Given the description of an element on the screen output the (x, y) to click on. 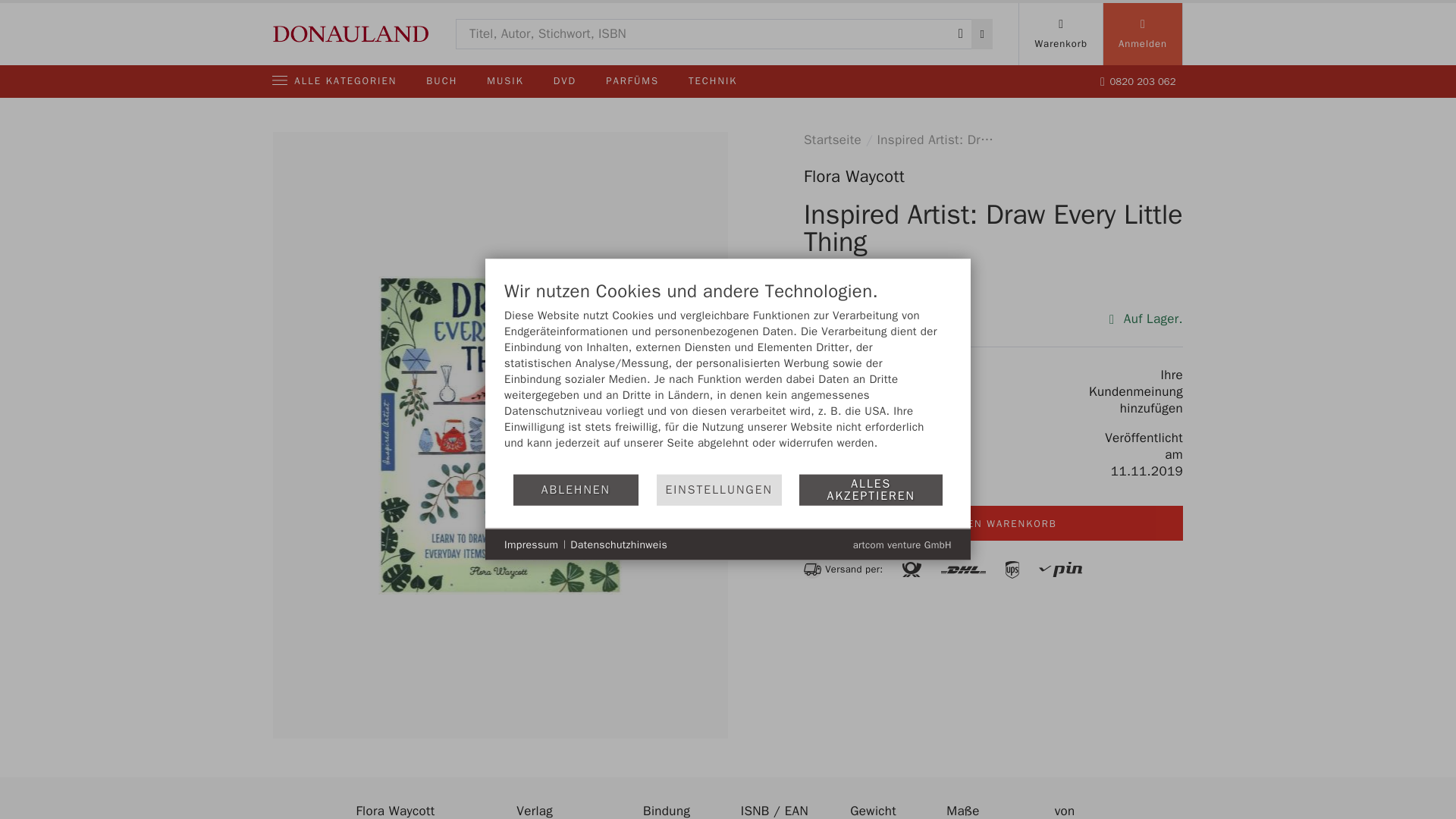
Anmelden (1142, 34)
BUCH (441, 81)
SUCHE (981, 33)
Warenkorb (1059, 34)
MUSIK (504, 81)
DVD (564, 81)
TECHNIK (712, 81)
Anzahl der Bewertungen (841, 391)
